Given the description of an element on the screen output the (x, y) to click on. 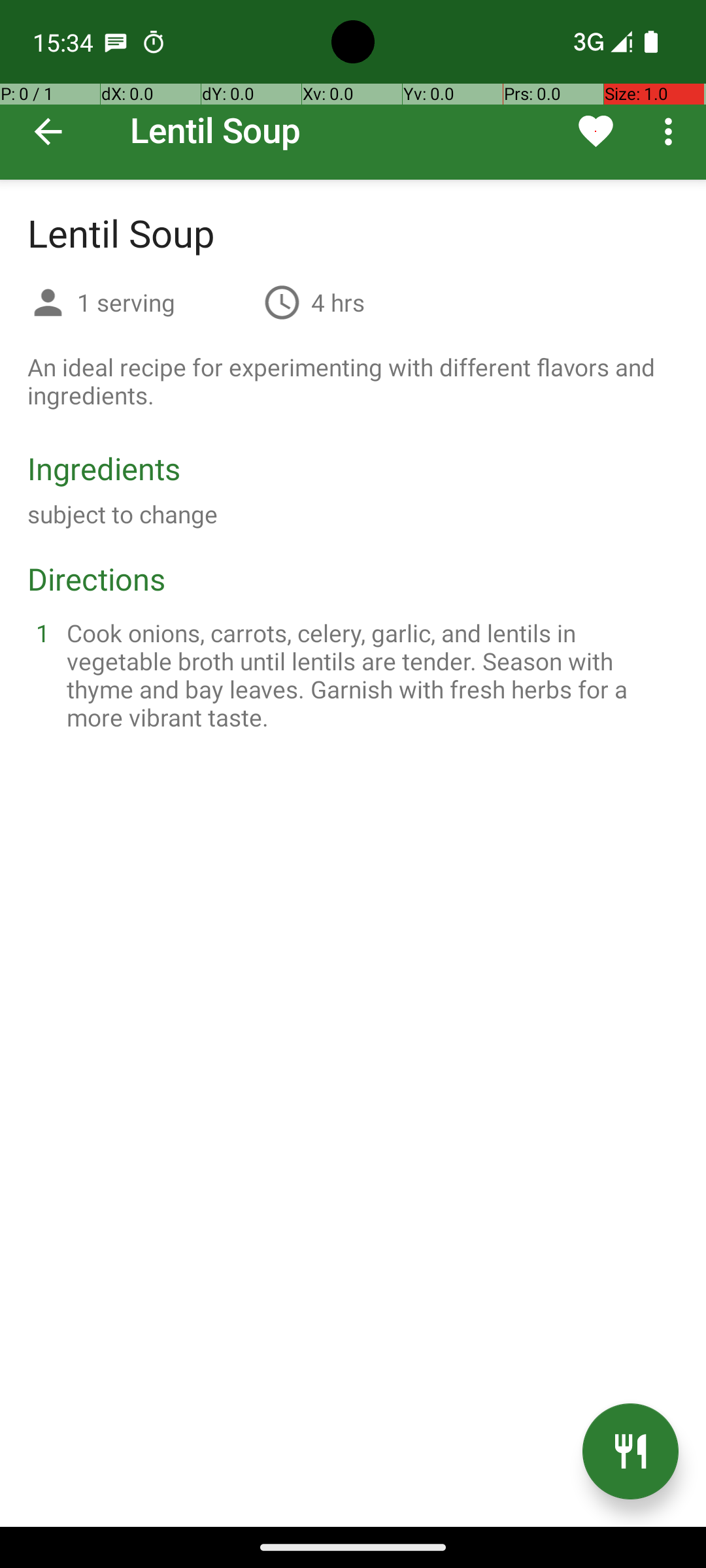
Cook onions, carrots, celery, garlic, and lentils in vegetable broth until lentils are tender. Season with thyme and bay leaves. Garnish with fresh herbs for a more vibrant taste. Element type: android.widget.TextView (368, 674)
